Given the description of an element on the screen output the (x, y) to click on. 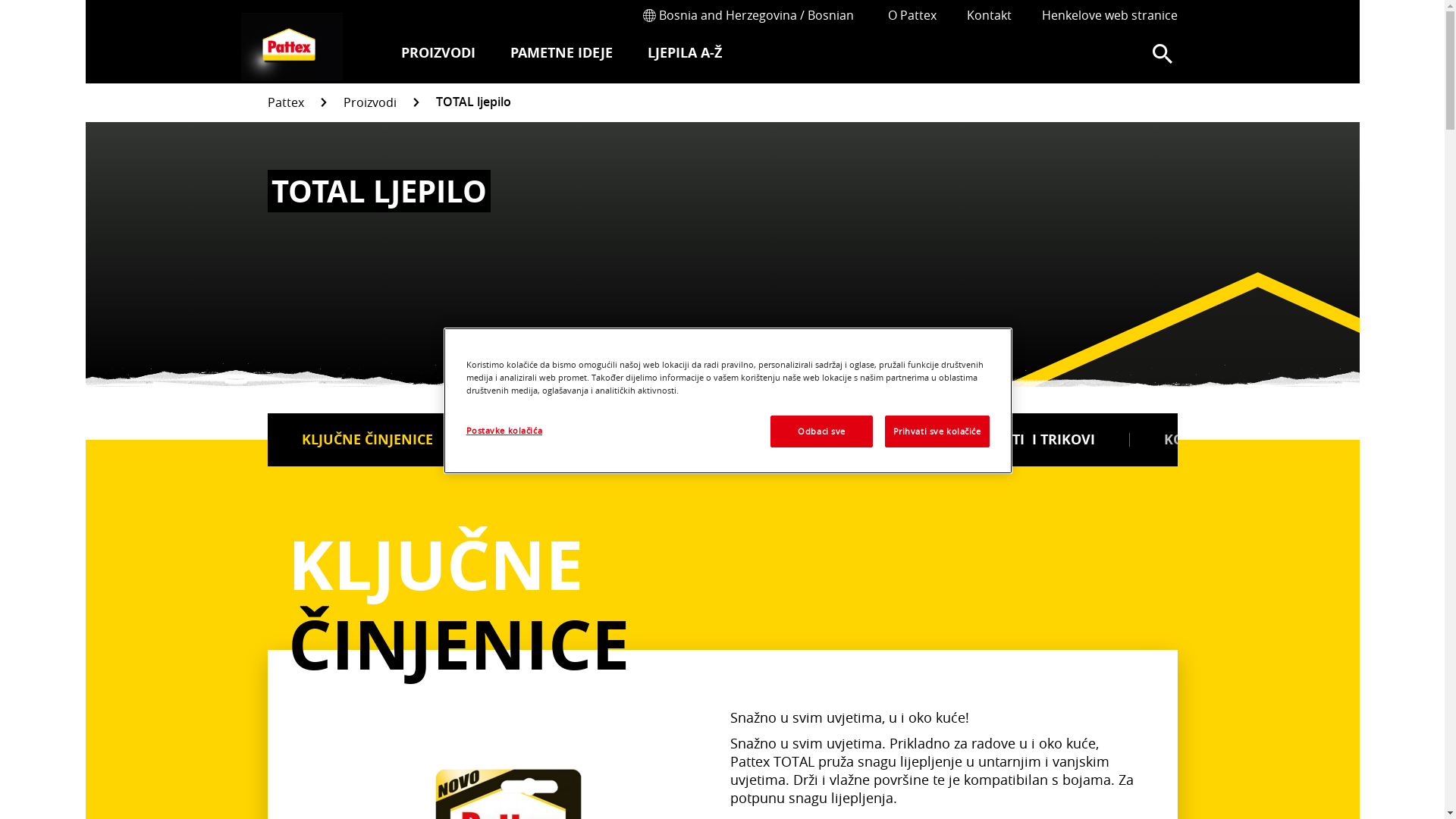
DOKUMENTI I PREUZIMANJA Element type: text (596, 439)
Pattex Element type: text (284, 102)
Kontakt Element type: text (988, 15)
KORAK PO KORAK / KAKO NAPRAVITI Element type: text (1287, 439)
PAMETNE IDEJE Element type: text (561, 54)
Henkelove web stranice Element type: text (1109, 15)
Bosnia and Herzegovina / Bosnian Element type: text (745, 14)
PROIZVODI Element type: text (438, 54)
Odbaci sve Element type: text (821, 431)
OSOBINE PROIZVODA Element type: text (834, 439)
Proizvodi Element type: text (368, 102)
SAVJETI  I TRIKOVI Element type: text (1034, 439)
O Pattex Element type: text (911, 15)
